Given the description of an element on the screen output the (x, y) to click on. 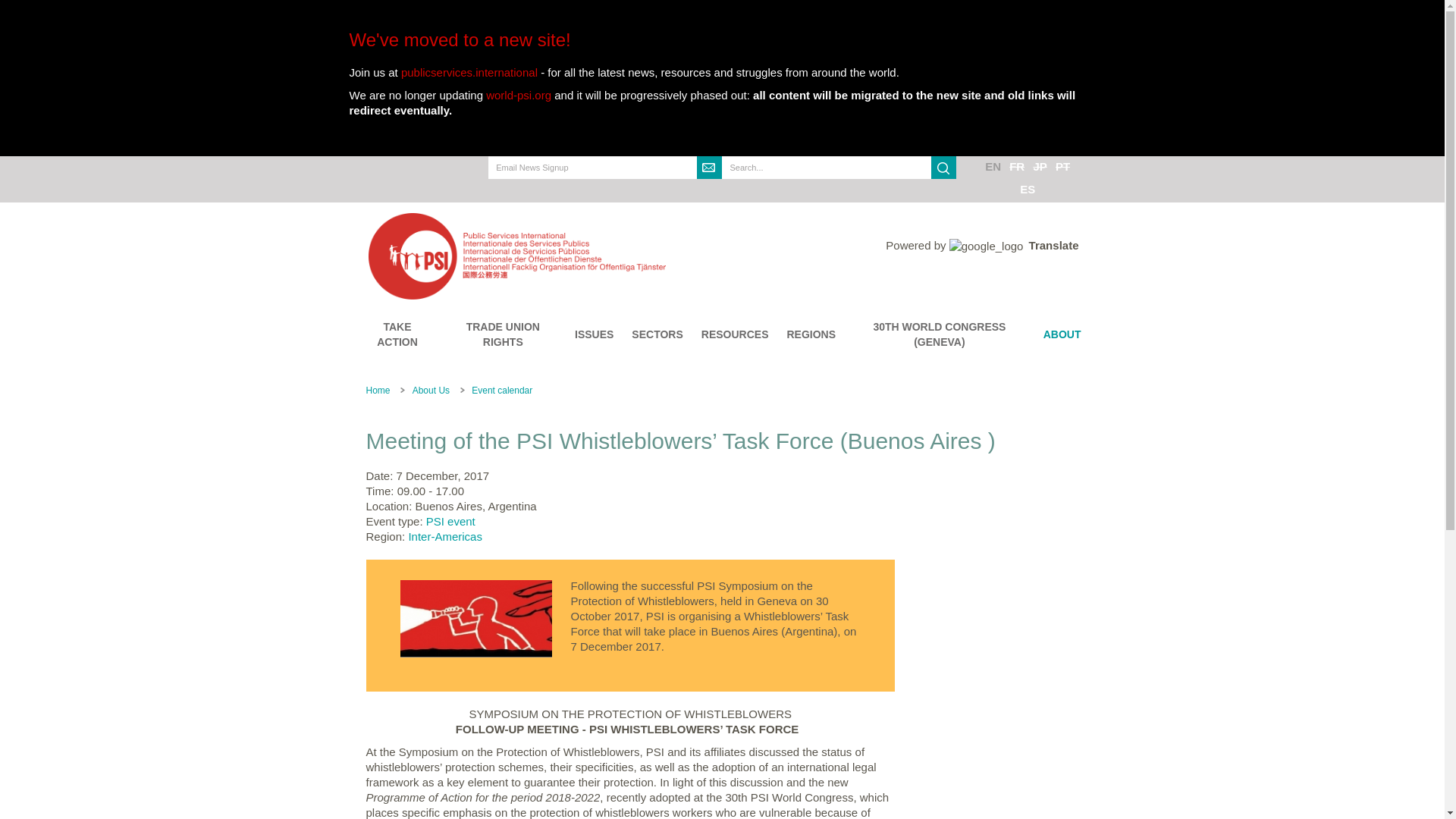
Home (598, 255)
Submit (709, 167)
publicservices.international (469, 72)
Search (943, 167)
Powered by Translate (981, 245)
world-psi.org (518, 94)
TAKE ACTION (398, 334)
Event calendar (501, 389)
About Us (430, 389)
Enter the terms you wish to search for. (826, 167)
Search (735, 190)
